Given the description of an element on the screen output the (x, y) to click on. 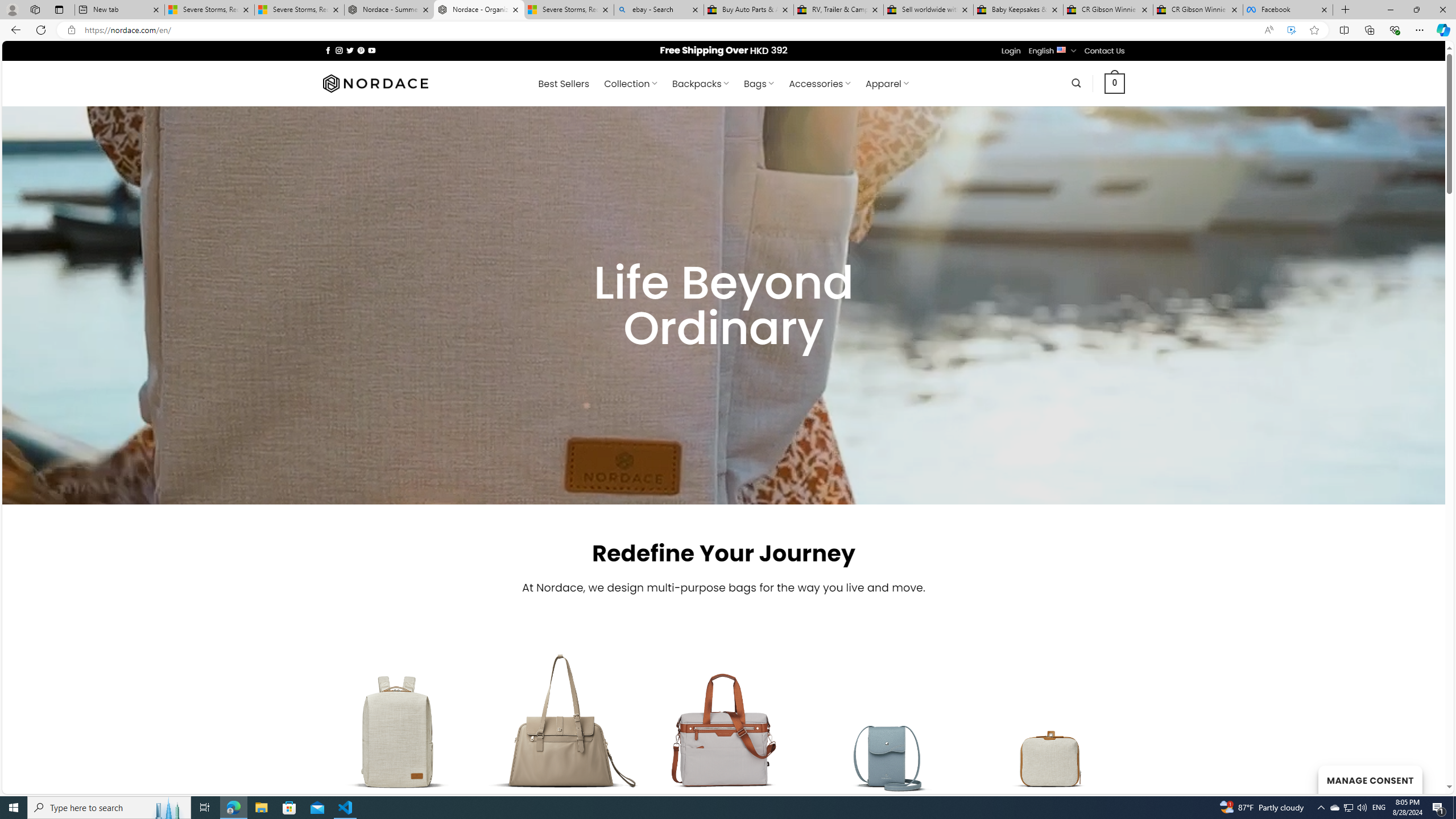
Follow on Pinterest (360, 49)
  Best Sellers (563, 83)
